Given the description of an element on the screen output the (x, y) to click on. 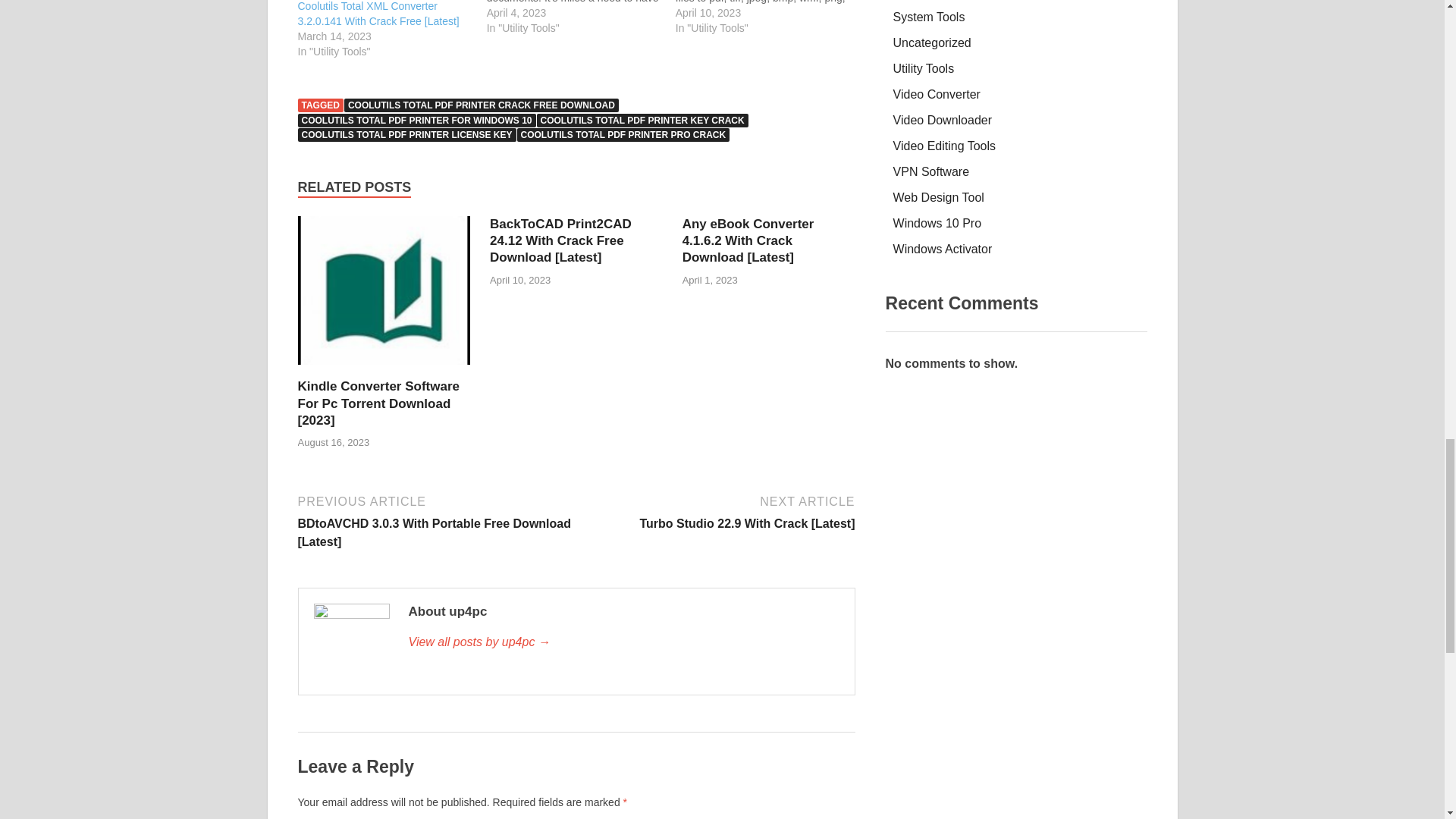
COOLUTILS TOTAL PDF PRINTER CRACK FREE DOWNLOAD (480, 105)
COOLUTILS TOTAL PDF PRINTER KEY CRACK (642, 120)
COOLUTILS TOTAL PDF PRINTER PRO CRACK (623, 134)
COOLUTILS TOTAL PDF PRINTER FOR WINDOWS 10 (416, 120)
COOLUTILS TOTAL PDF PRINTER LICENSE KEY (406, 134)
